Given the description of an element on the screen output the (x, y) to click on. 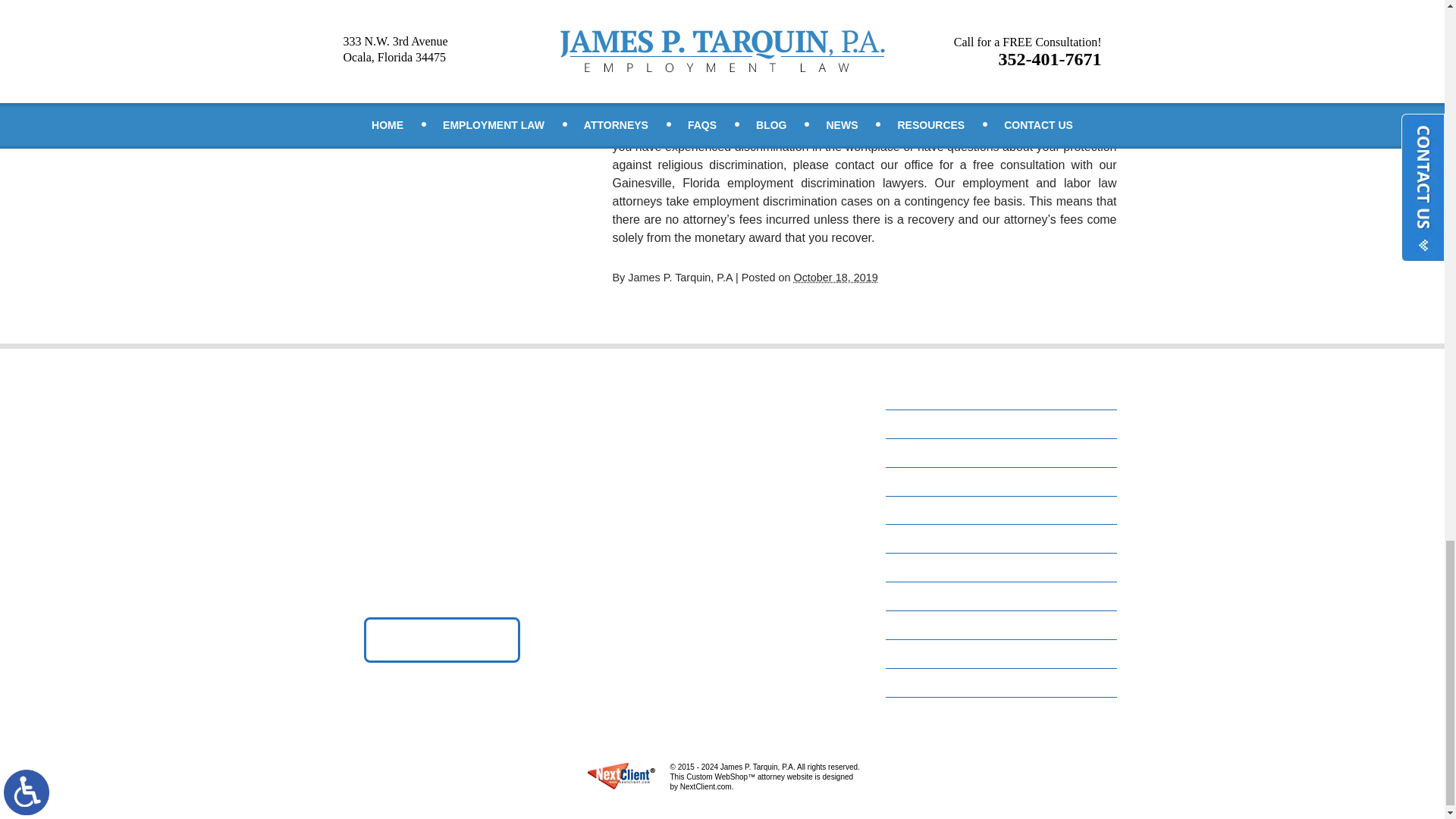
2019-10-18T10:45:32-0700 (835, 277)
